Given the description of an element on the screen output the (x, y) to click on. 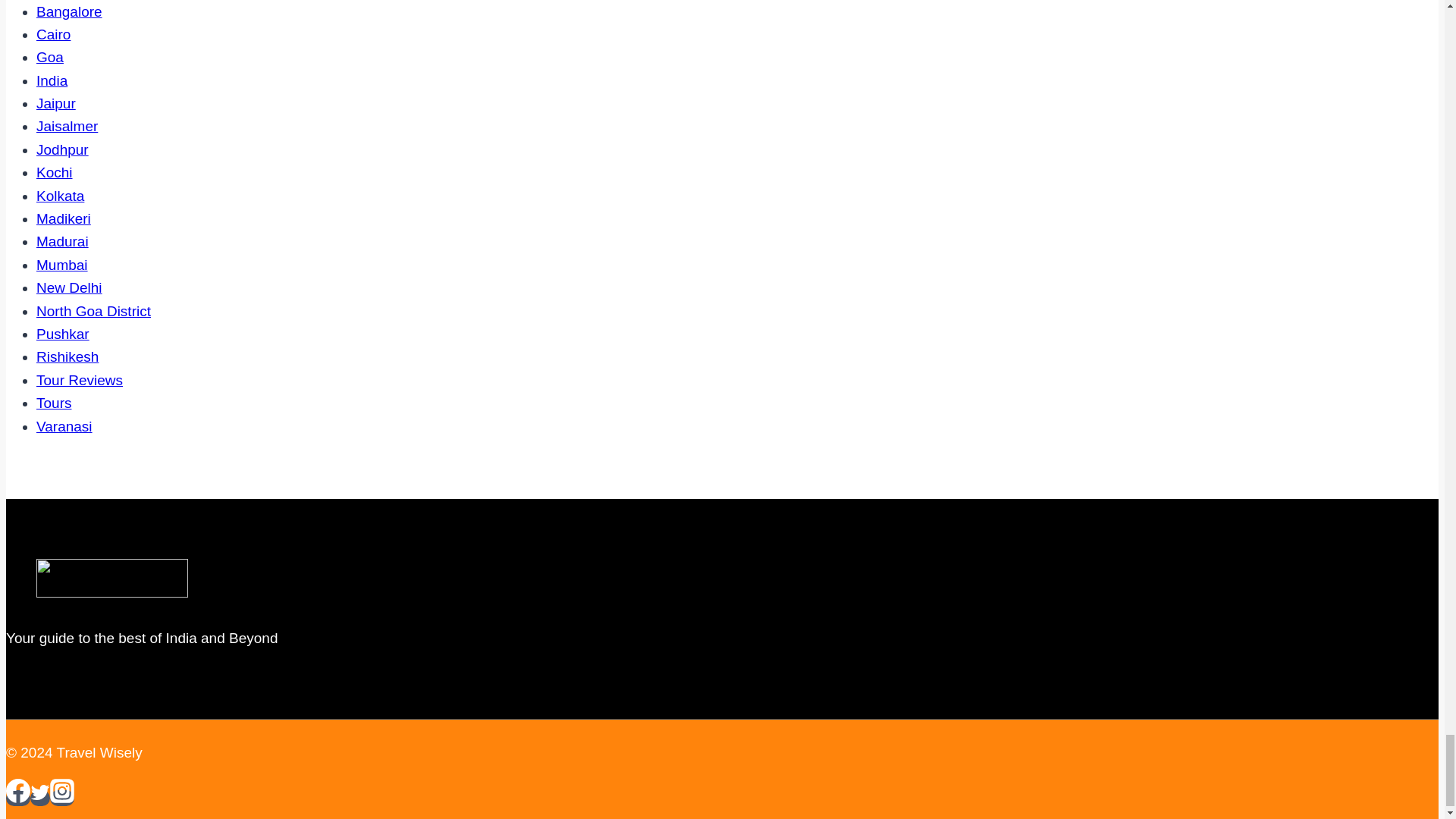
Twitter (39, 792)
Facebook (17, 790)
Instagram (61, 790)
